Given the description of an element on the screen output the (x, y) to click on. 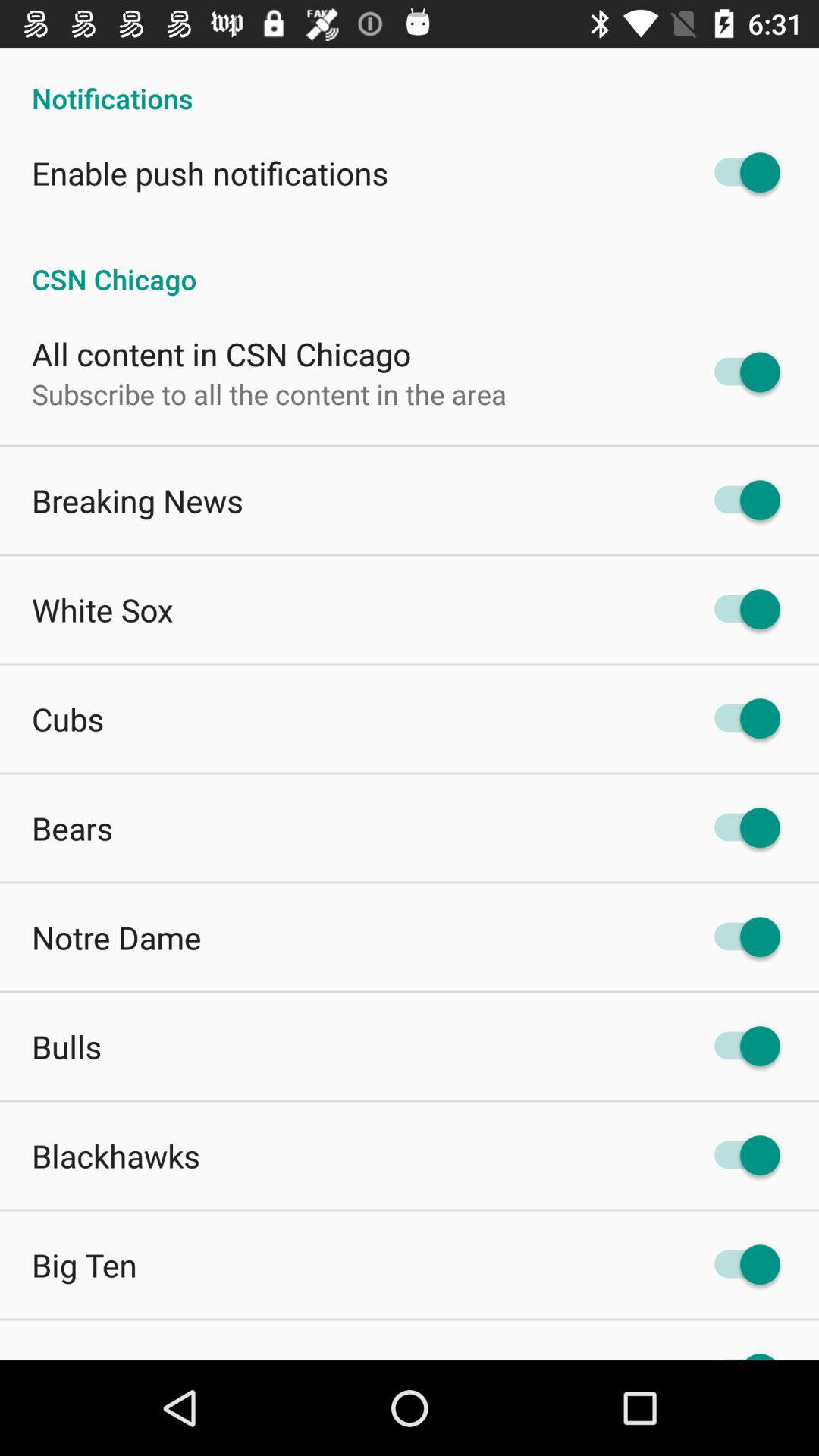
swipe until bears icon (72, 827)
